Given the description of an element on the screen output the (x, y) to click on. 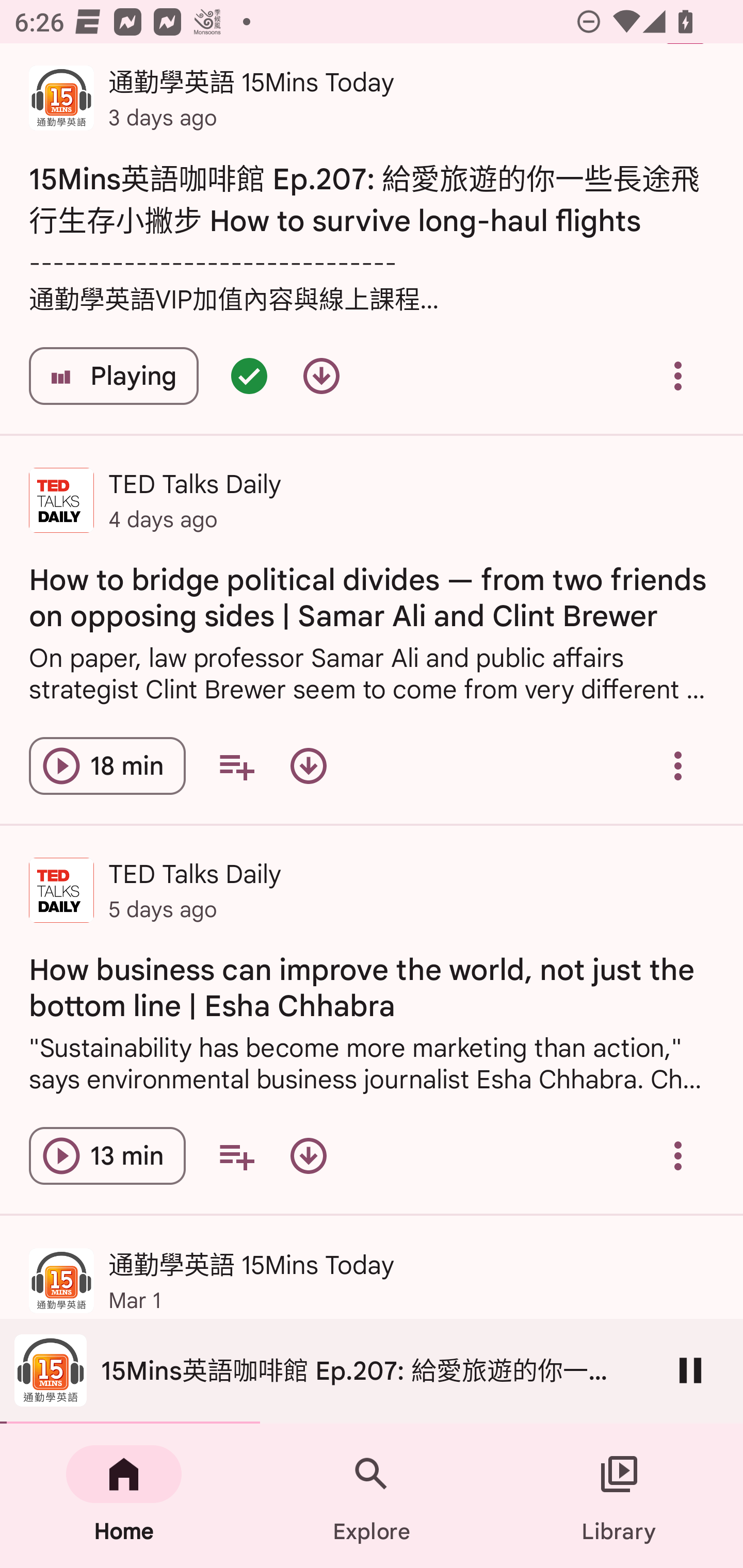
Episode queued - double tap for options (249, 375)
Download episode (321, 375)
Overflow menu (677, 375)
Add to your queue (235, 765)
Download episode (308, 765)
Overflow menu (677, 765)
Add to your queue (235, 1156)
Download episode (308, 1156)
Overflow menu (677, 1156)
Pause (690, 1370)
Explore (371, 1495)
Library (619, 1495)
